Given the description of an element on the screen output the (x, y) to click on. 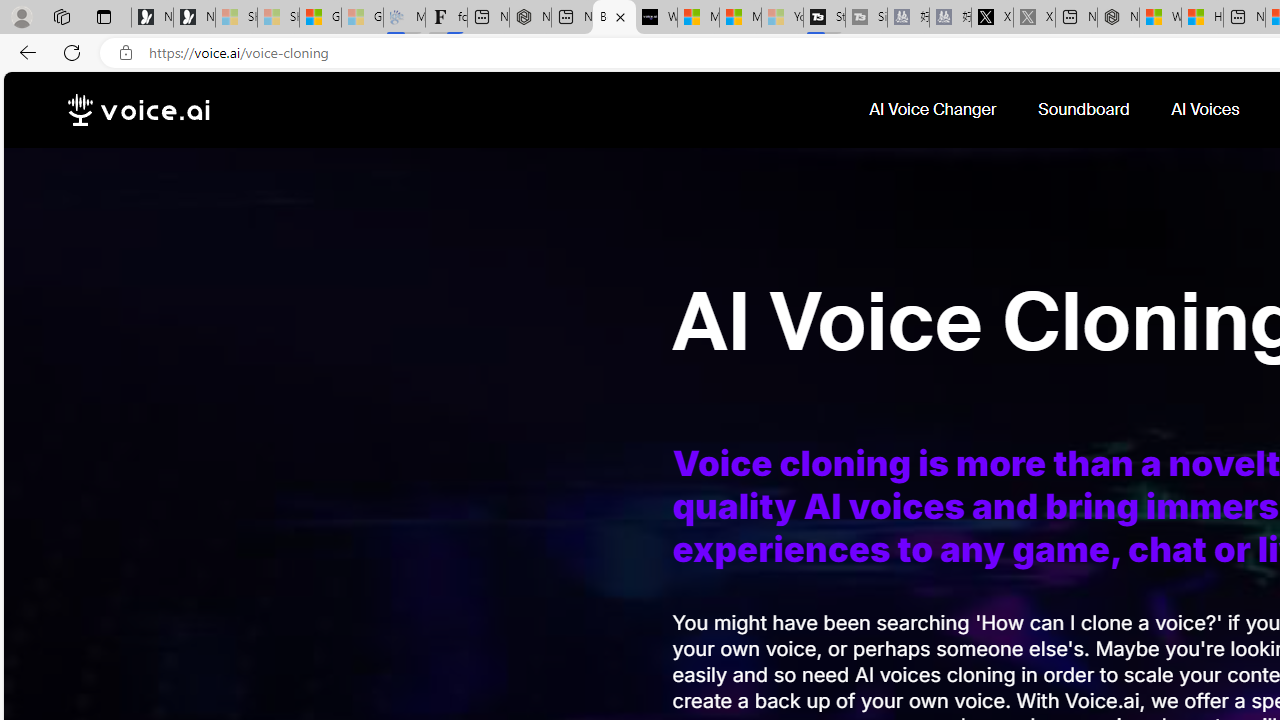
Streaming Coverage | T3 (823, 17)
